Given the description of an element on the screen output the (x, y) to click on. 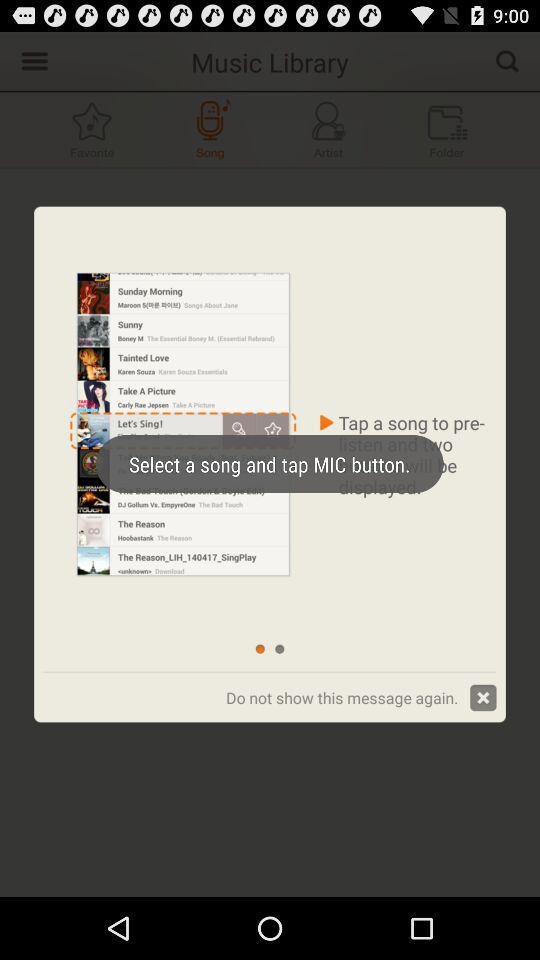
view music library settings (32, 60)
